Given the description of an element on the screen output the (x, y) to click on. 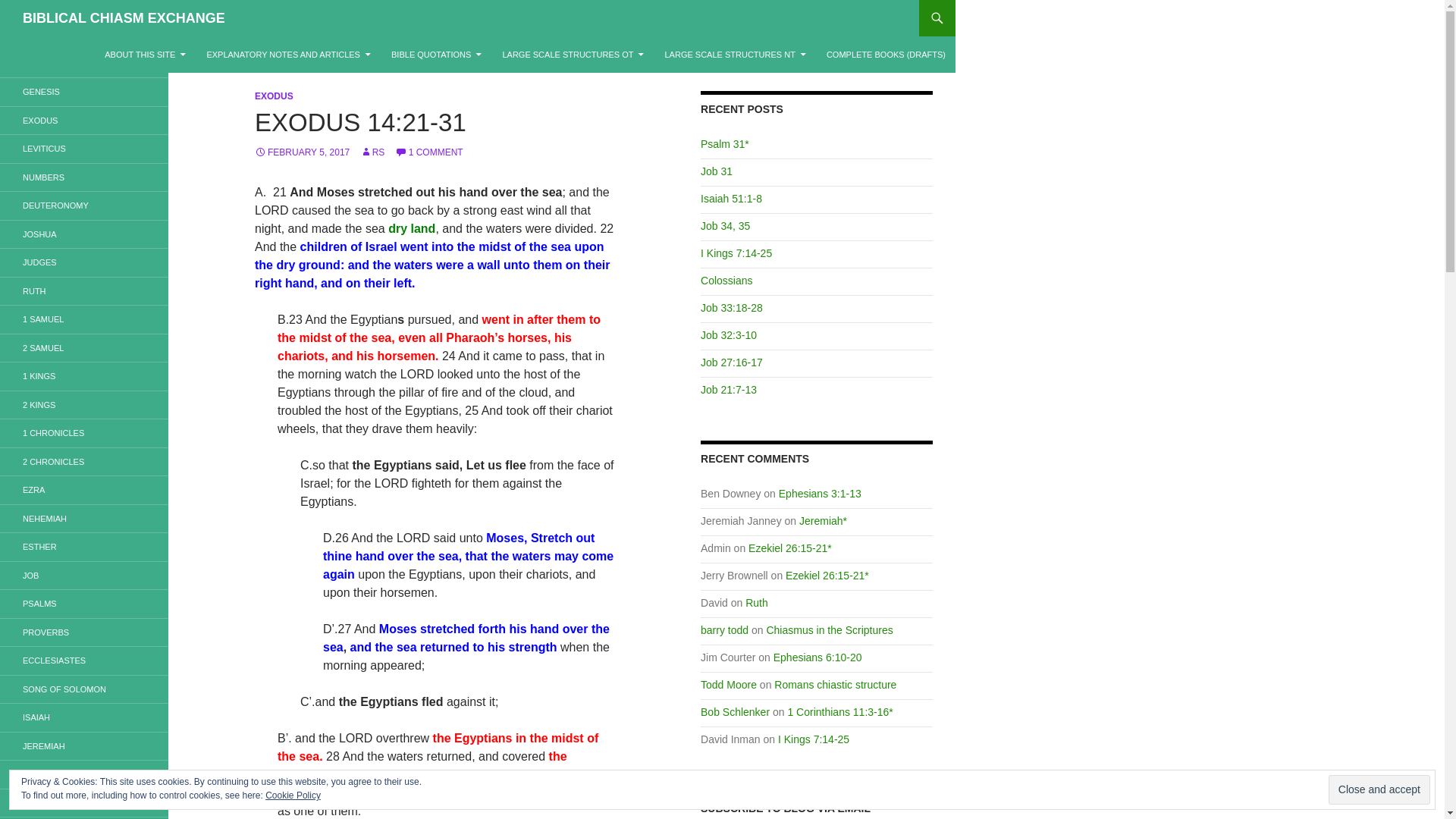
LARGE SCALE STRUCTURES OT (572, 54)
EXPLANATORY NOTES AND ARTICLES (288, 54)
ABOUT THIS SITE (145, 54)
BIBLE QUOTATIONS (435, 54)
Close and accept (1378, 789)
BIBLICAL CHIASM EXCHANGE (124, 18)
